Given the description of an element on the screen output the (x, y) to click on. 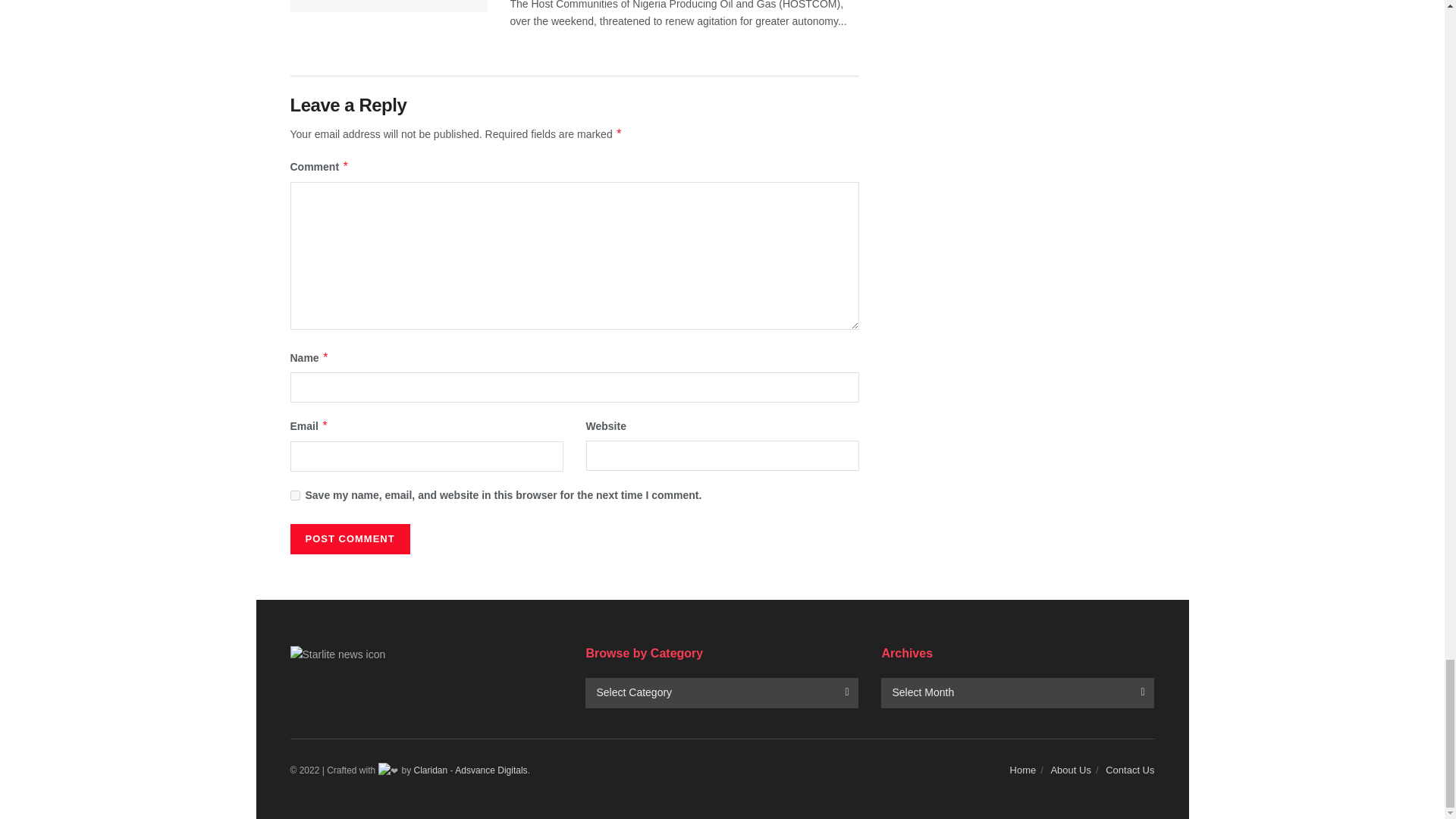
yes (294, 495)
Digital Marketing Agency in Nigeria (490, 769)
Information and Entertainment Blog (430, 769)
Post Comment (349, 539)
